Given the description of an element on the screen output the (x, y) to click on. 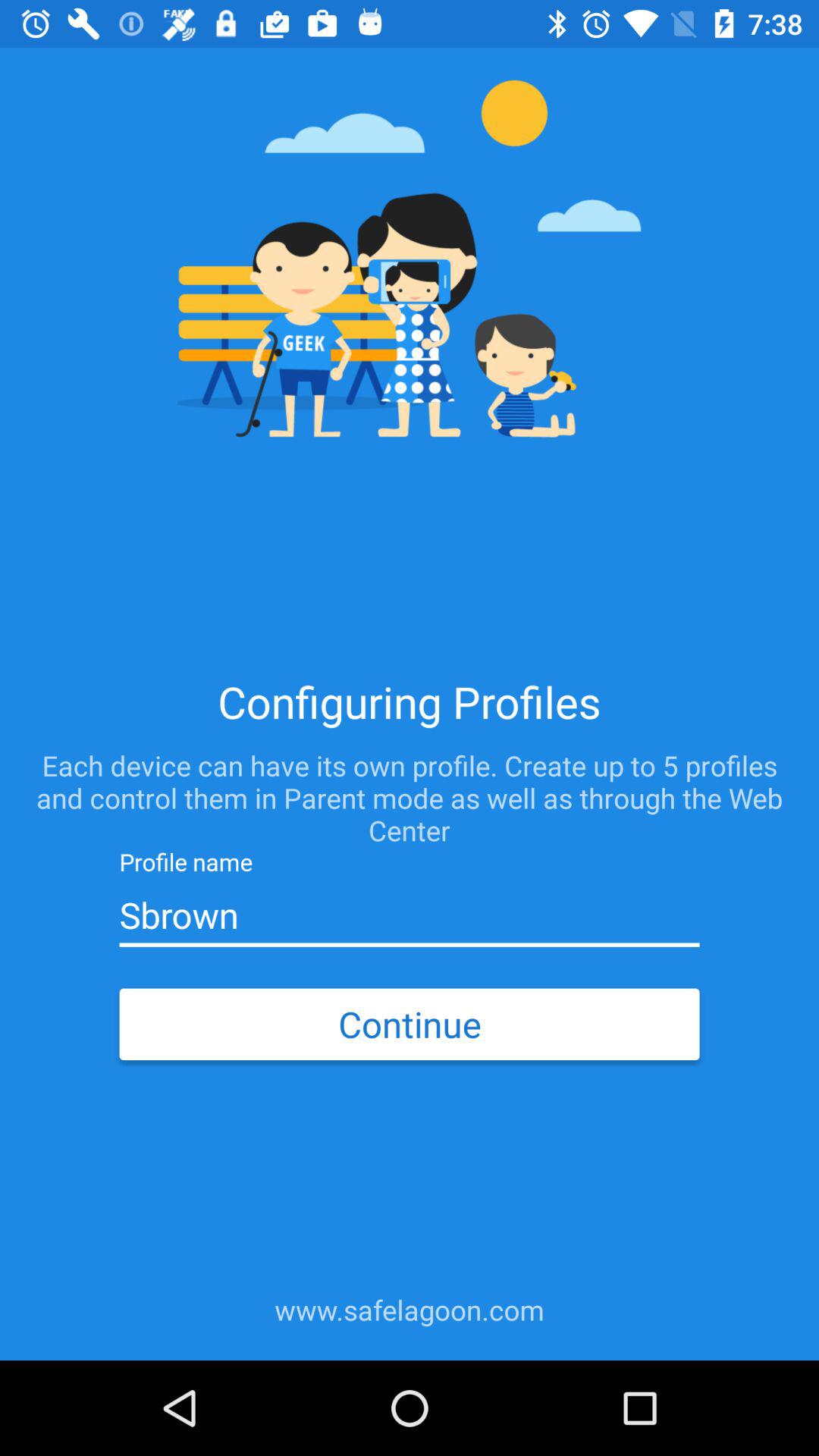
turn off the icon below each device can icon (409, 915)
